Given the description of an element on the screen output the (x, y) to click on. 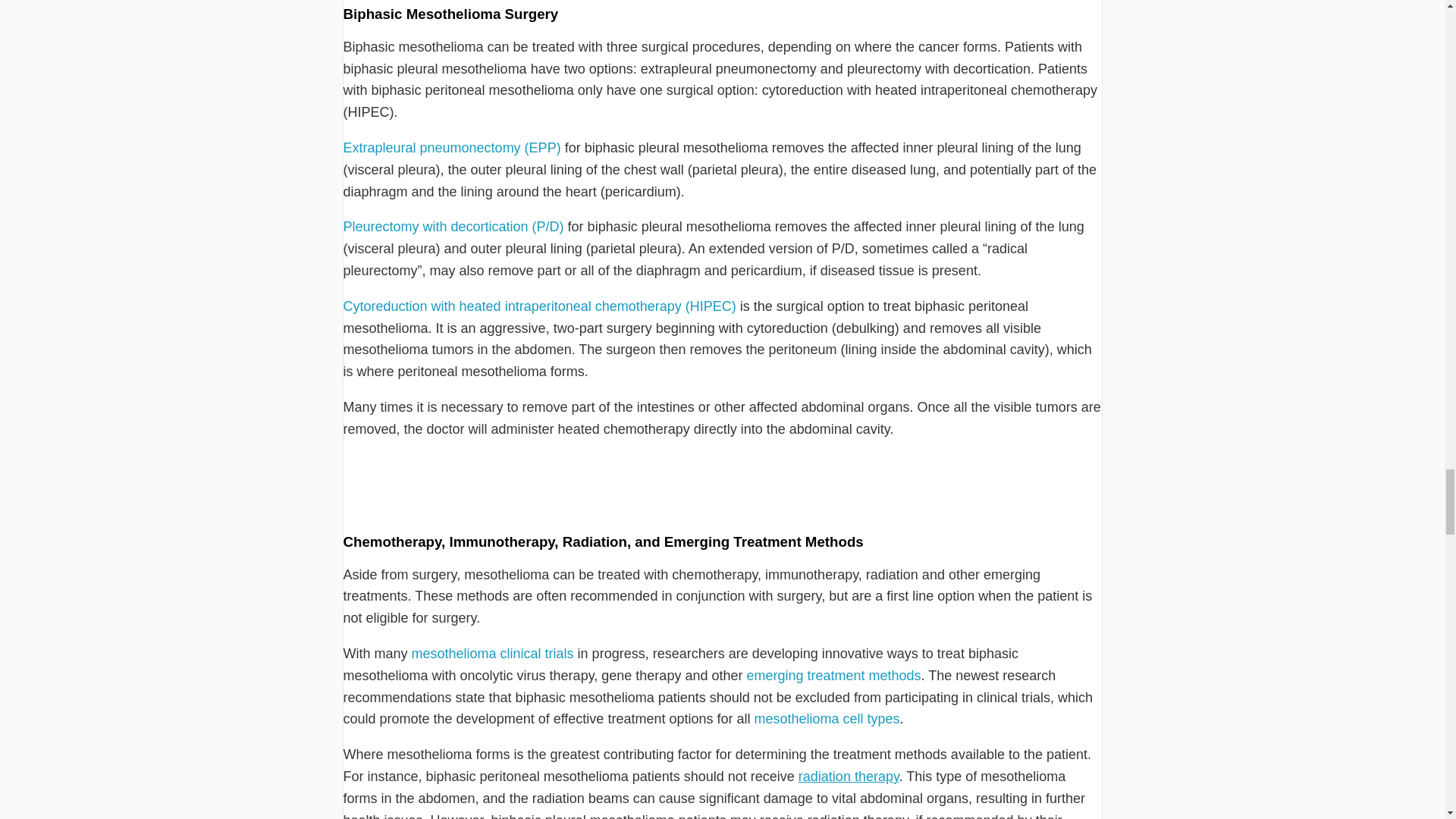
mesothelioma types (826, 718)
